Given the description of an element on the screen output the (x, y) to click on. 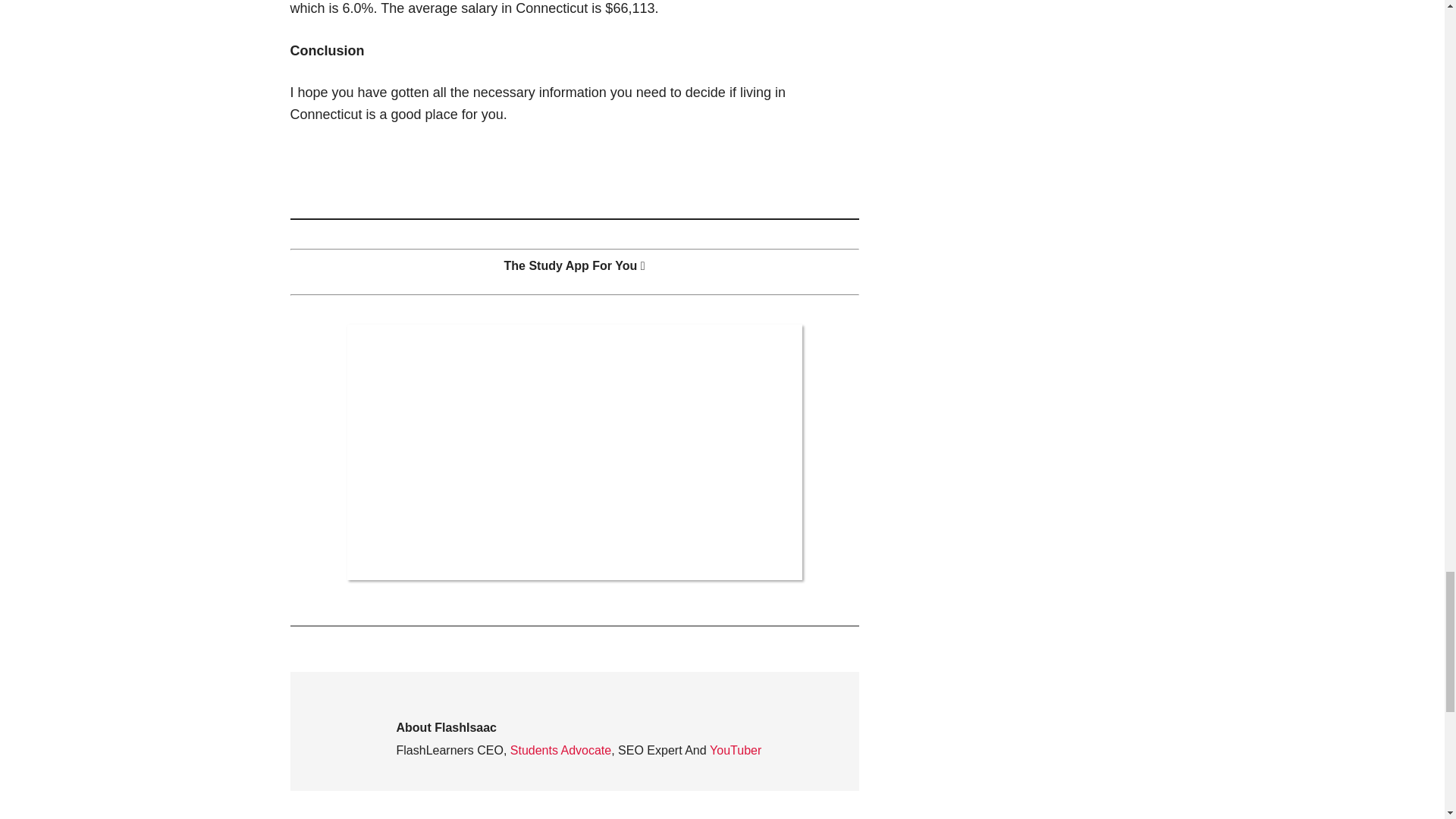
Students Advocate (561, 749)
YouTuber (735, 749)
